Given the description of an element on the screen output the (x, y) to click on. 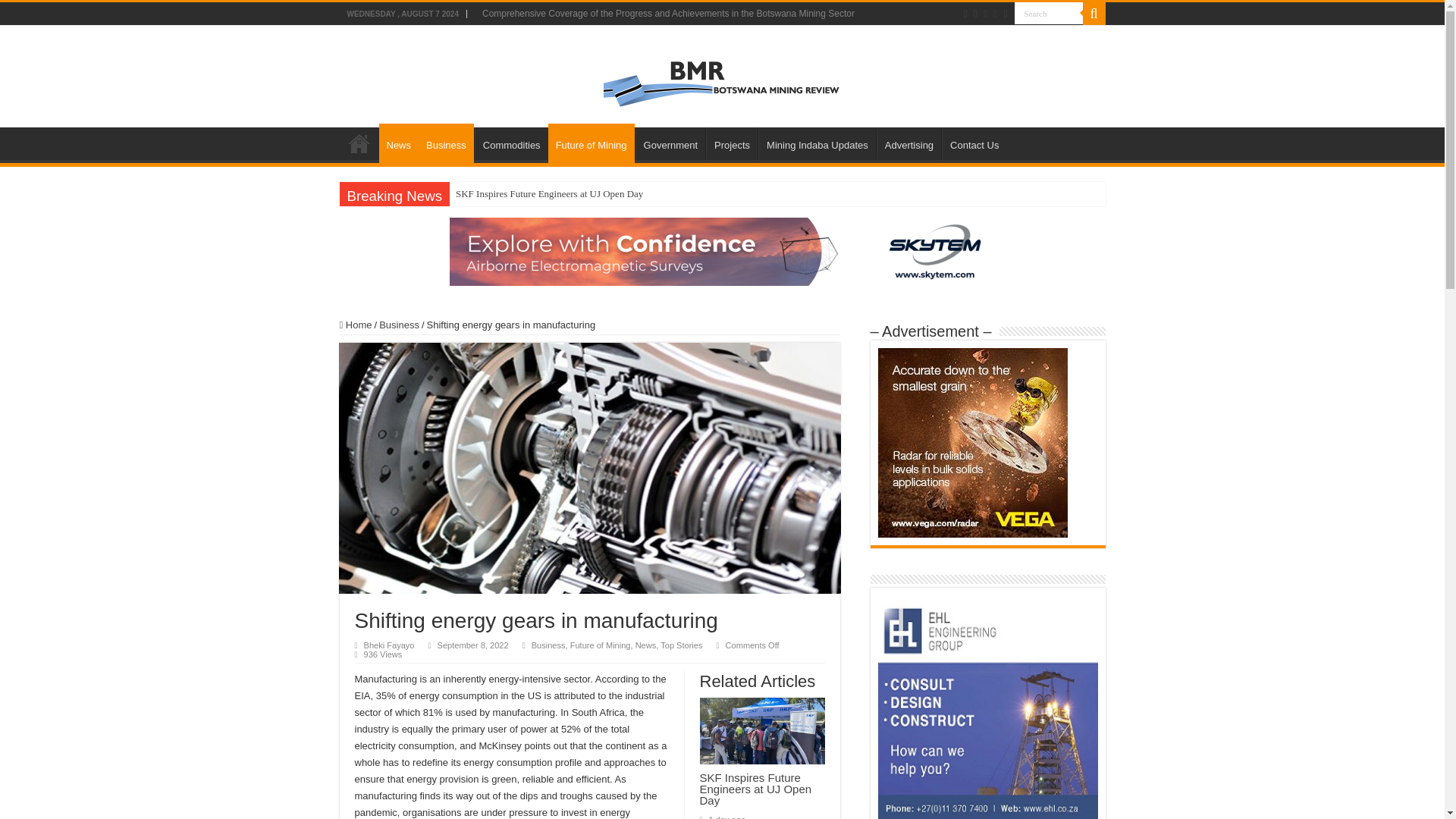
Search (1094, 13)
SKF Inspires Future Engineers at UJ Open Day (549, 193)
Search (1048, 13)
News (398, 142)
Search (1048, 13)
Commodities (511, 142)
Home (358, 142)
Botswana Mining Review (722, 73)
Future of Mining (591, 142)
SKF Inspires Future Engineers at UJ Open Day (549, 193)
